Given the description of an element on the screen output the (x, y) to click on. 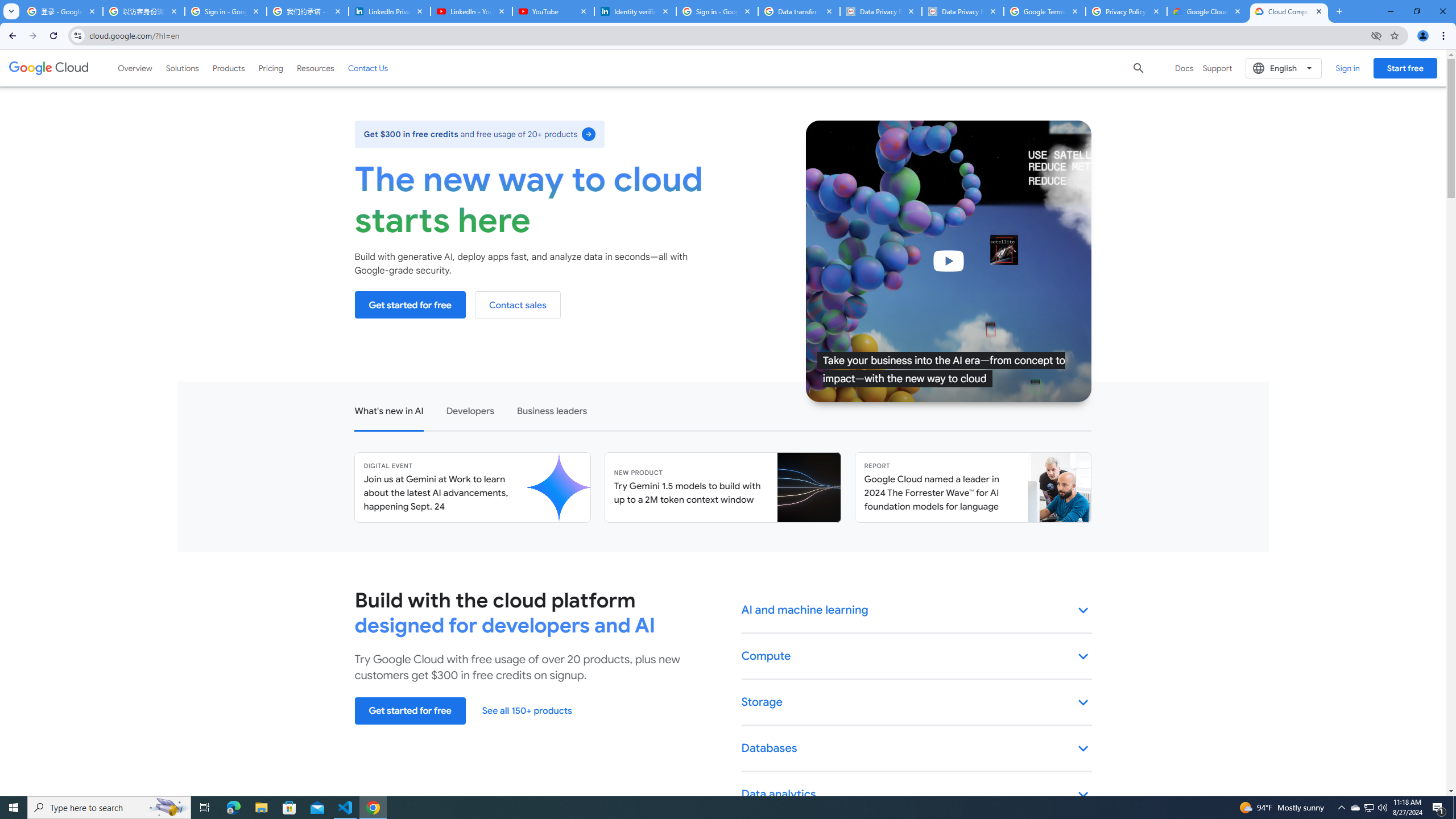
Products (228, 67)
Data analytics keyboard_arrow_down (916, 794)
Start free (1405, 67)
